Given the description of an element on the screen output the (x, y) to click on. 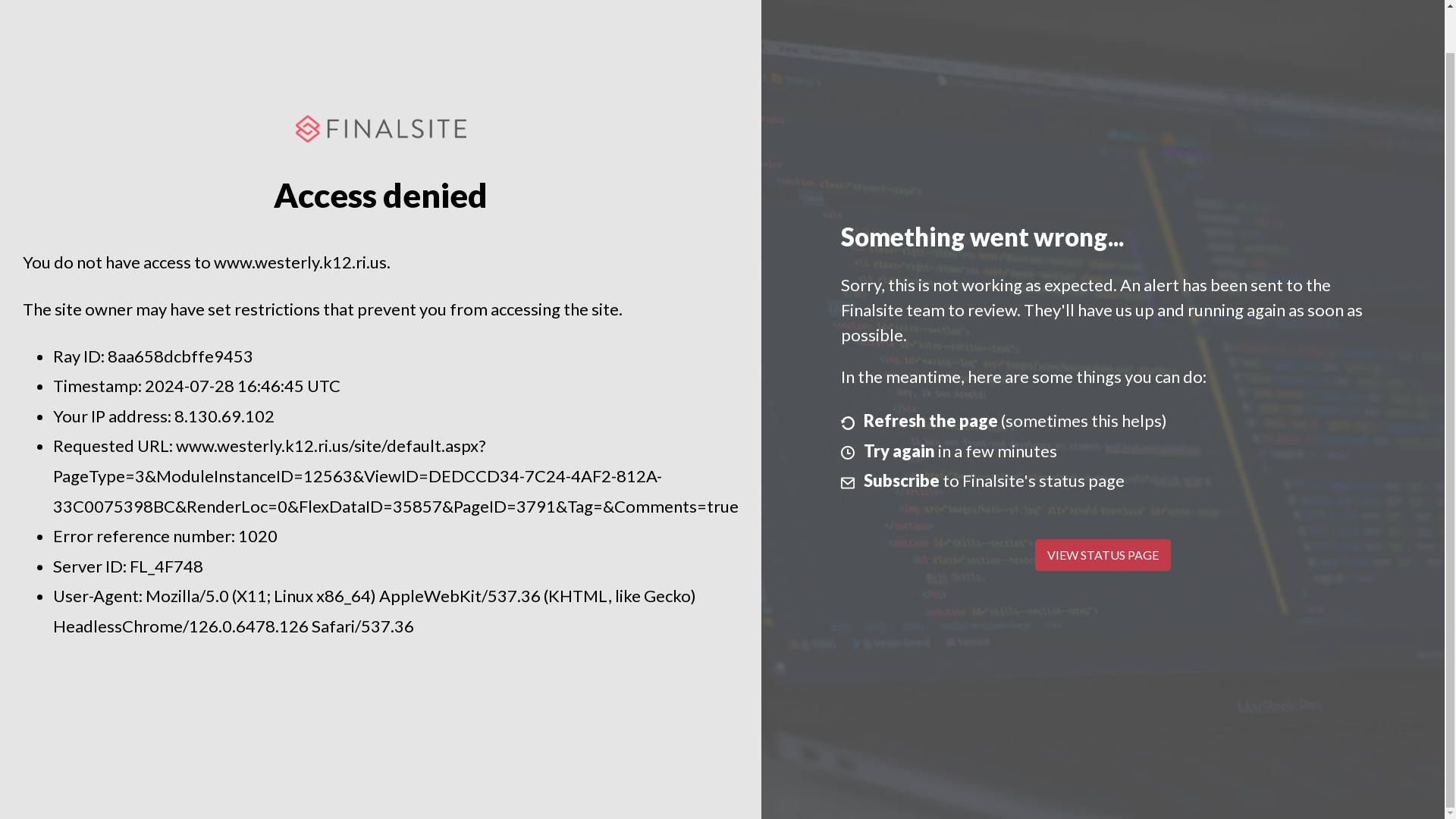
VIEW STATUS PAGE (1102, 554)
